Given the description of an element on the screen output the (x, y) to click on. 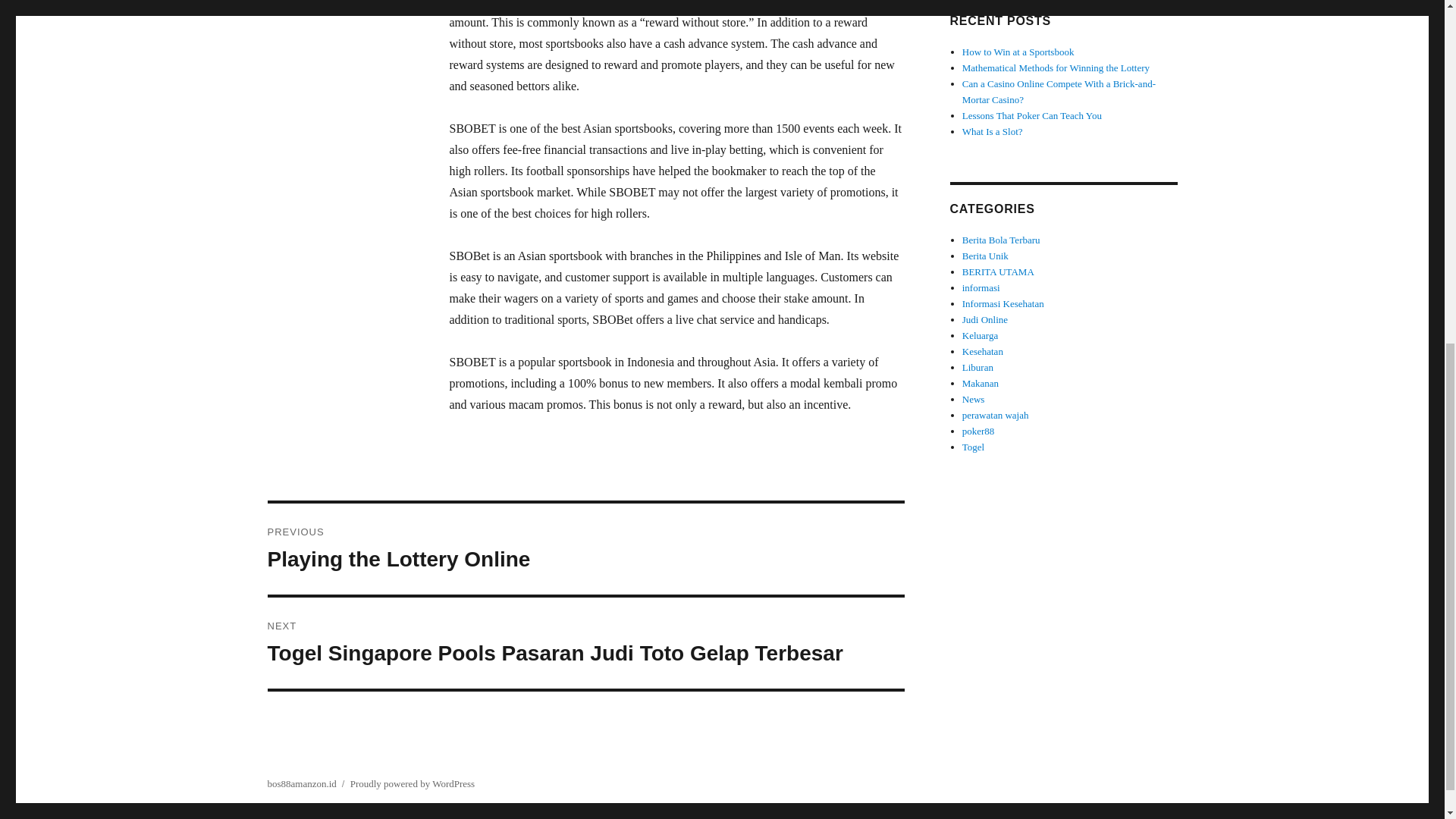
How to Win at a Sportsbook (1018, 51)
Judi Online (984, 319)
informasi (981, 287)
Mathematical Methods for Winning the Lottery (1056, 67)
Keluarga (979, 335)
What Is a Slot? (992, 131)
Berita Bola Terbaru (1001, 239)
Lessons That Poker Can Teach You (1032, 115)
Informasi Kesehatan (1002, 303)
Berita Unik (985, 255)
BERITA UTAMA (997, 271)
Can a Casino Online Compete With a Brick-and-Mortar Casino? (585, 548)
